Given the description of an element on the screen output the (x, y) to click on. 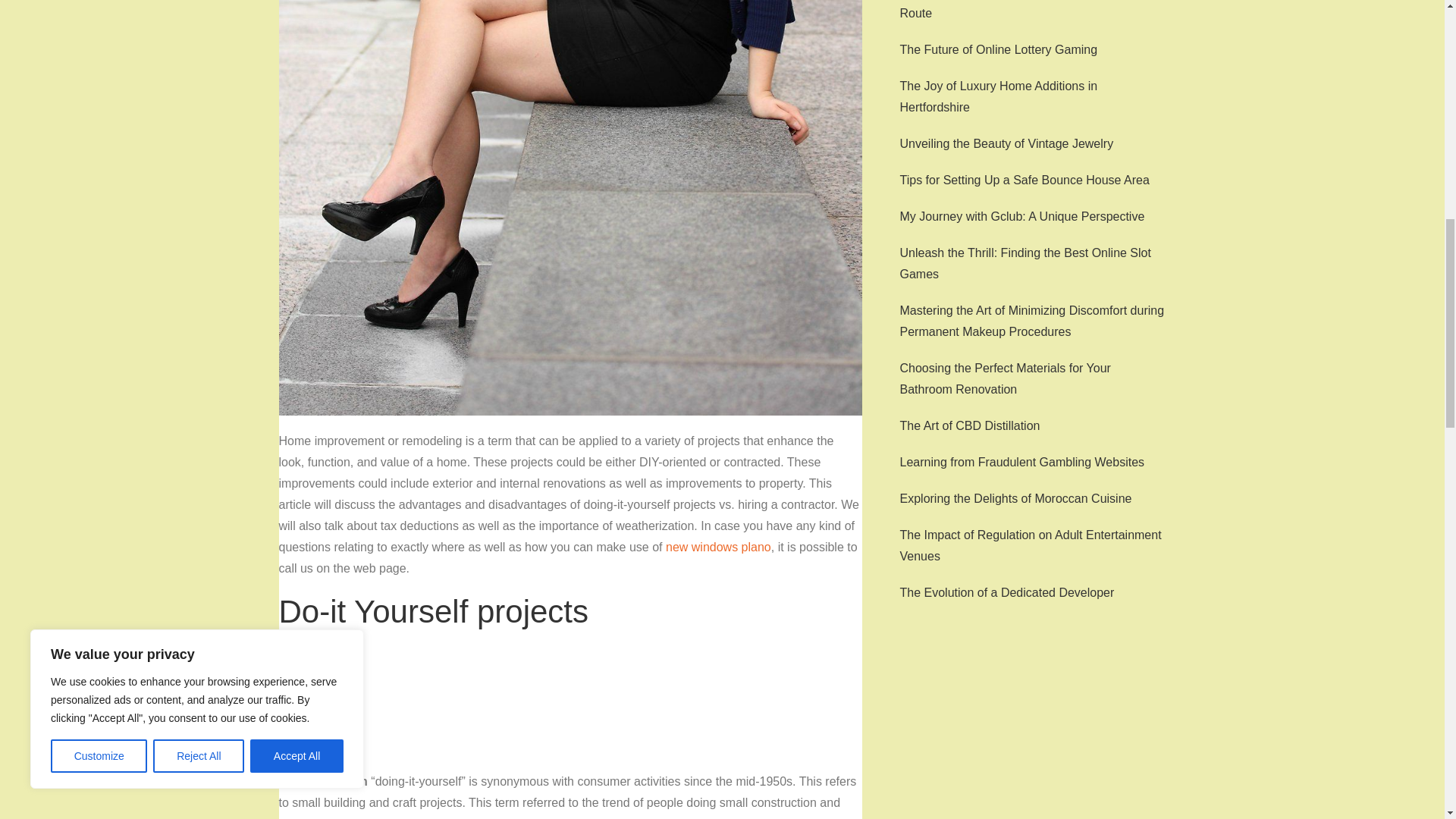
new windows plano (718, 546)
